Given the description of an element on the screen output the (x, y) to click on. 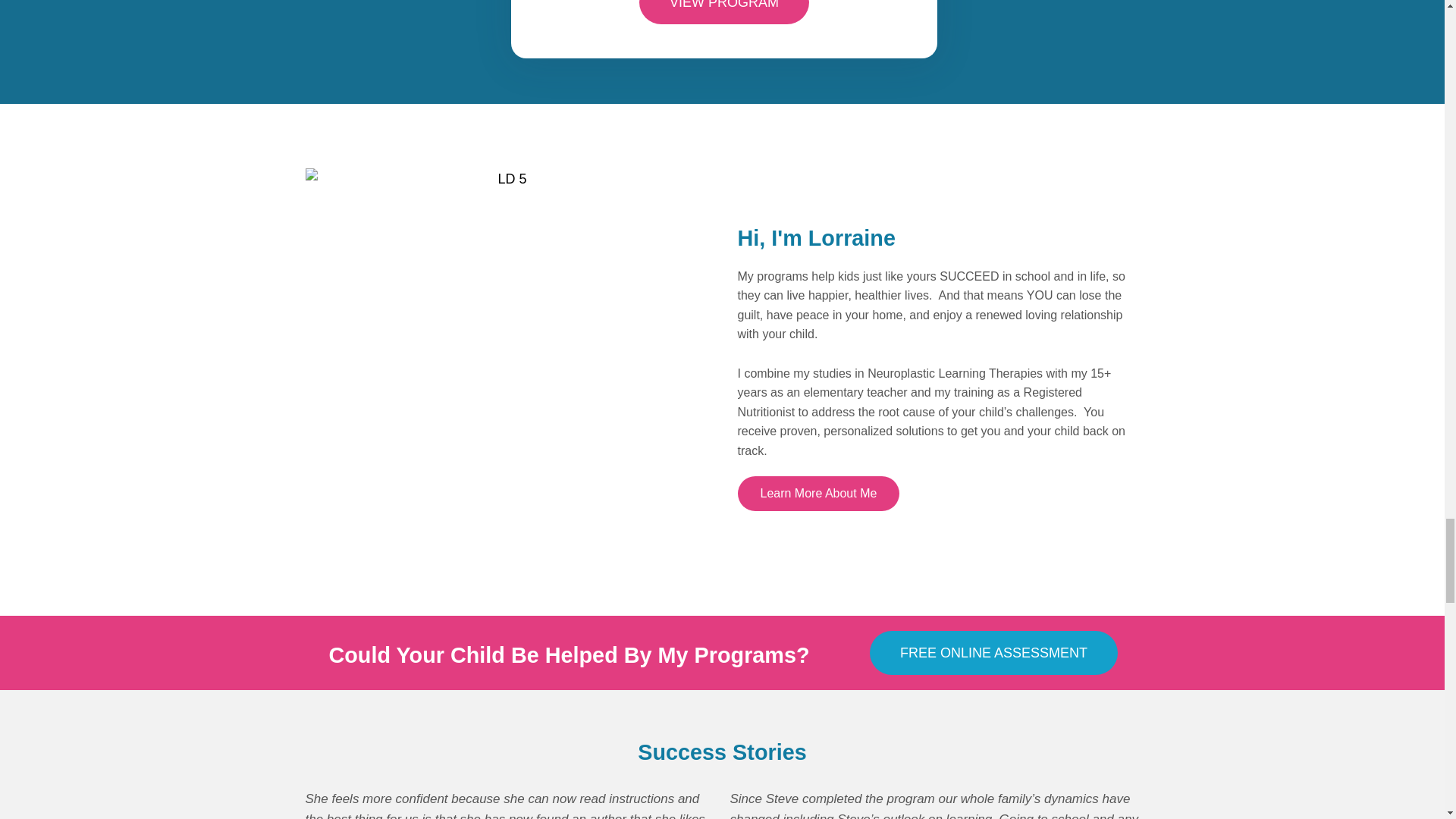
FREE ONLINE ASSESSMENT (993, 652)
Learn More About Me (817, 493)
VIEW PROGRAM (724, 12)
